Given the description of an element on the screen output the (x, y) to click on. 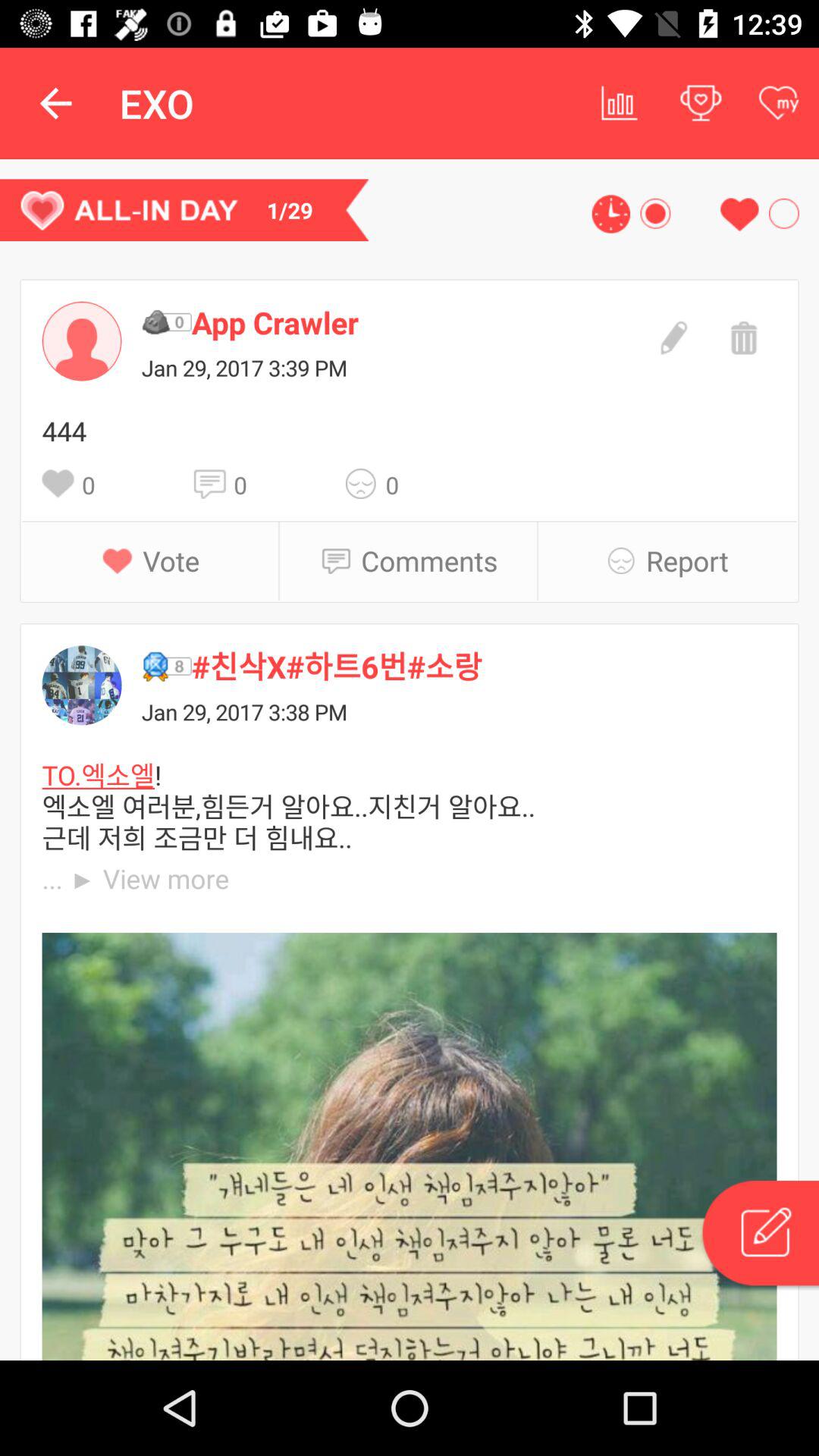
to the profile element (81, 341)
